Given the description of an element on the screen output the (x, y) to click on. 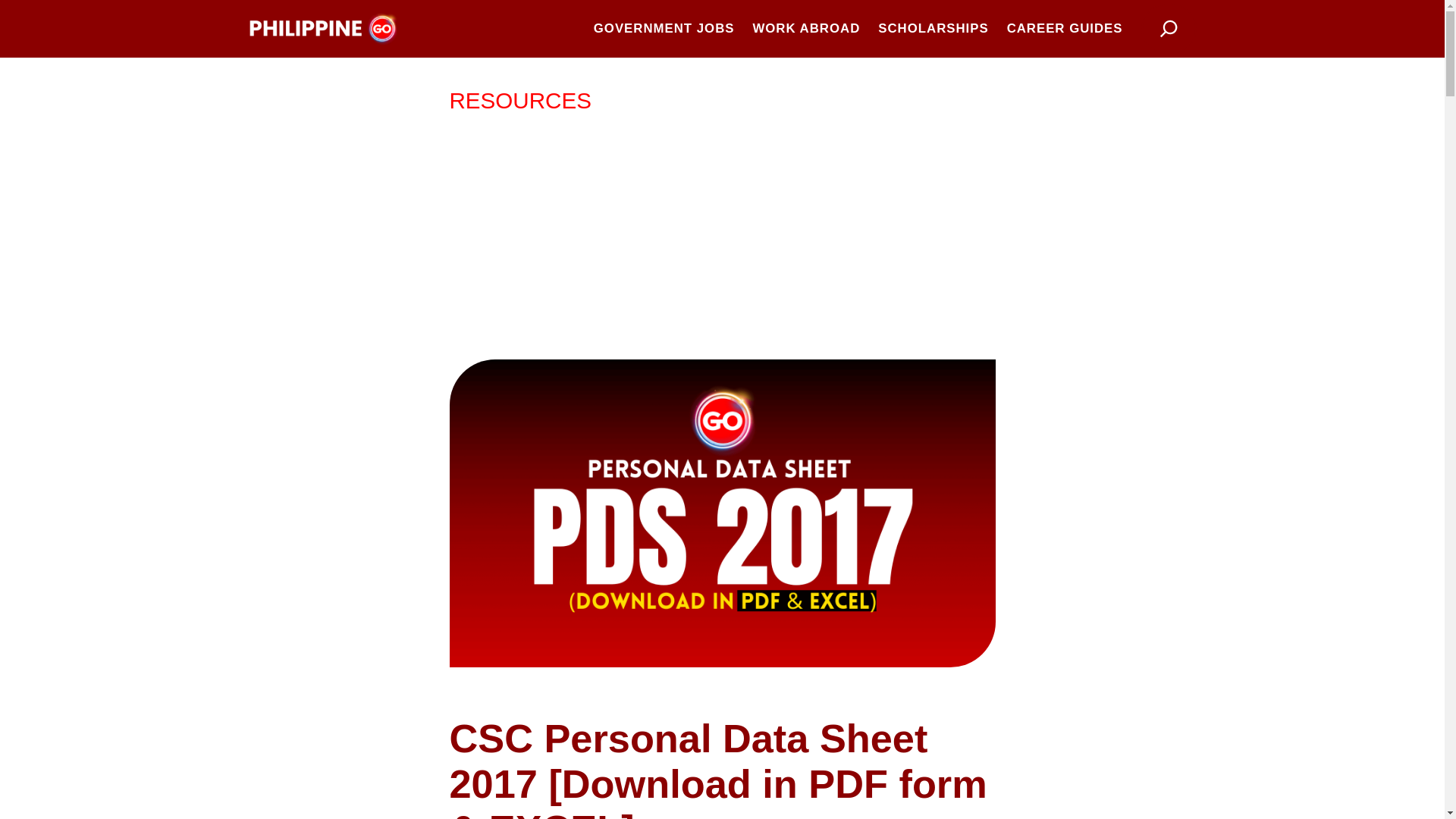
WORK ABROAD (806, 28)
CAREER GUIDES (1064, 28)
RESOURCES (519, 100)
Advertisement (721, 238)
GOVERNMENT JOBS (664, 28)
SCHOLARSHIPS (932, 28)
